Given the description of an element on the screen output the (x, y) to click on. 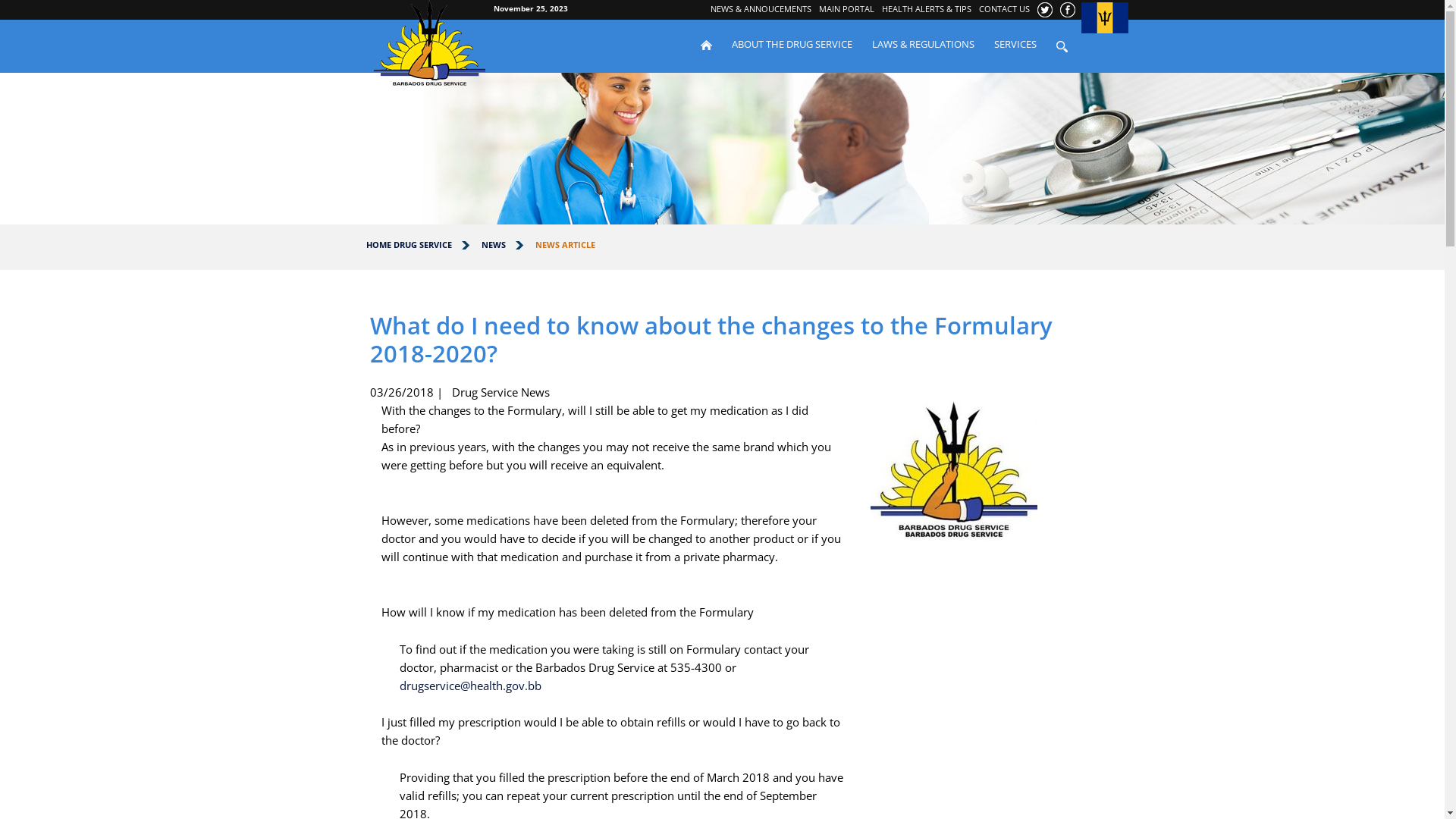
drugservice@health.gov.bb Element type: text (469, 685)
HOME DRUG SERVICE Element type: text (408, 244)
NEWS Element type: text (492, 244)
MAIN PORTAL Element type: text (845, 8)
NEWS ARTICLE Element type: text (565, 244)
HEALTH ALERTS & TIPS Element type: text (926, 8)
LAWS & REGULATIONS Element type: text (922, 43)
SERVICES Element type: text (1015, 43)
NEWS & ANNOUCEMENTS Element type: text (760, 8)
CONTACT US Element type: text (1004, 8)
ABOUT THE DRUG SERVICE Element type: text (791, 43)
